Given the description of an element on the screen output the (x, y) to click on. 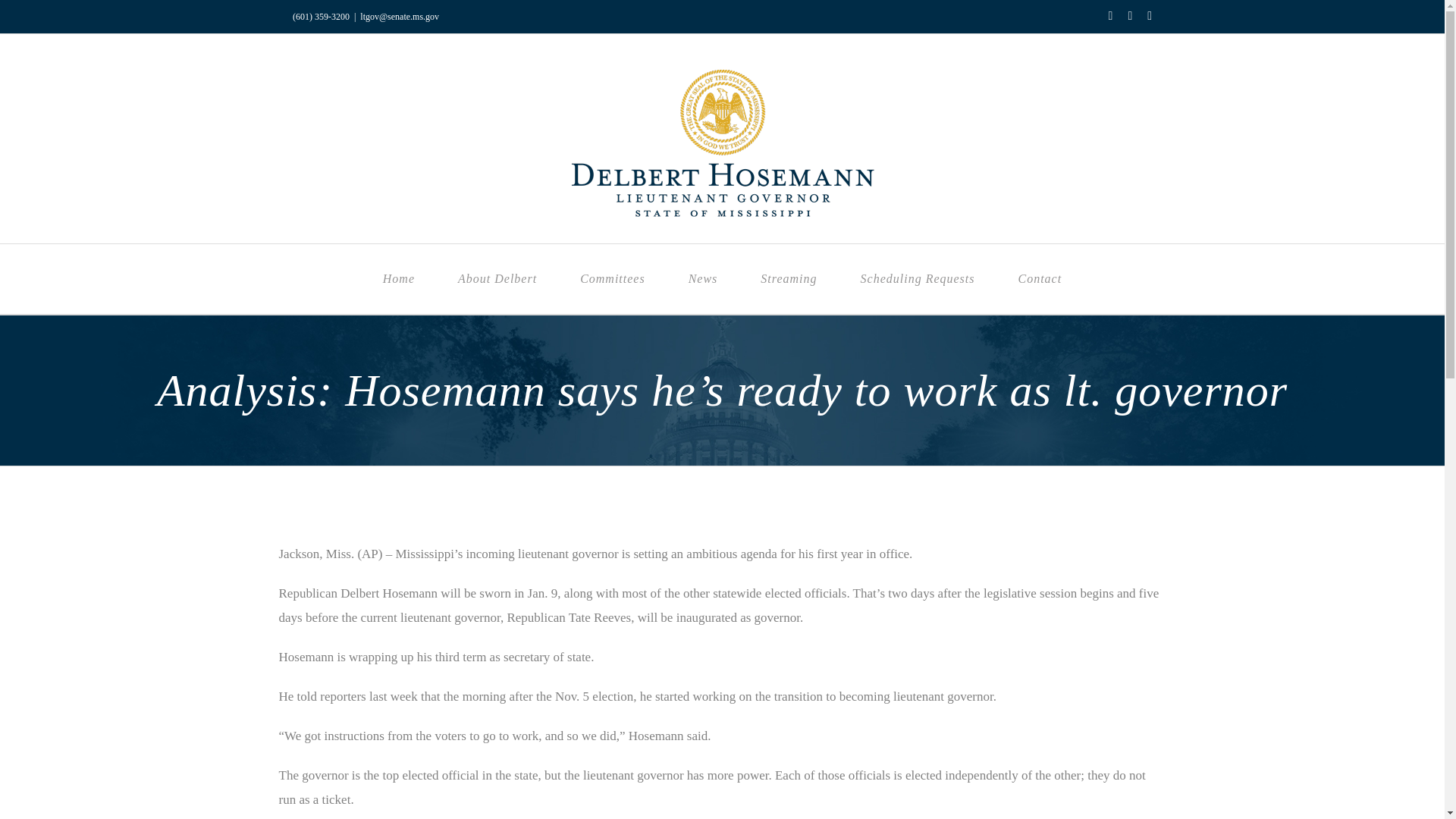
News (702, 278)
Streaming (788, 278)
Committees (612, 278)
About Delbert (497, 278)
Scheduling Requests (916, 278)
Contact (1039, 278)
Home (398, 278)
